Given the description of an element on the screen output the (x, y) to click on. 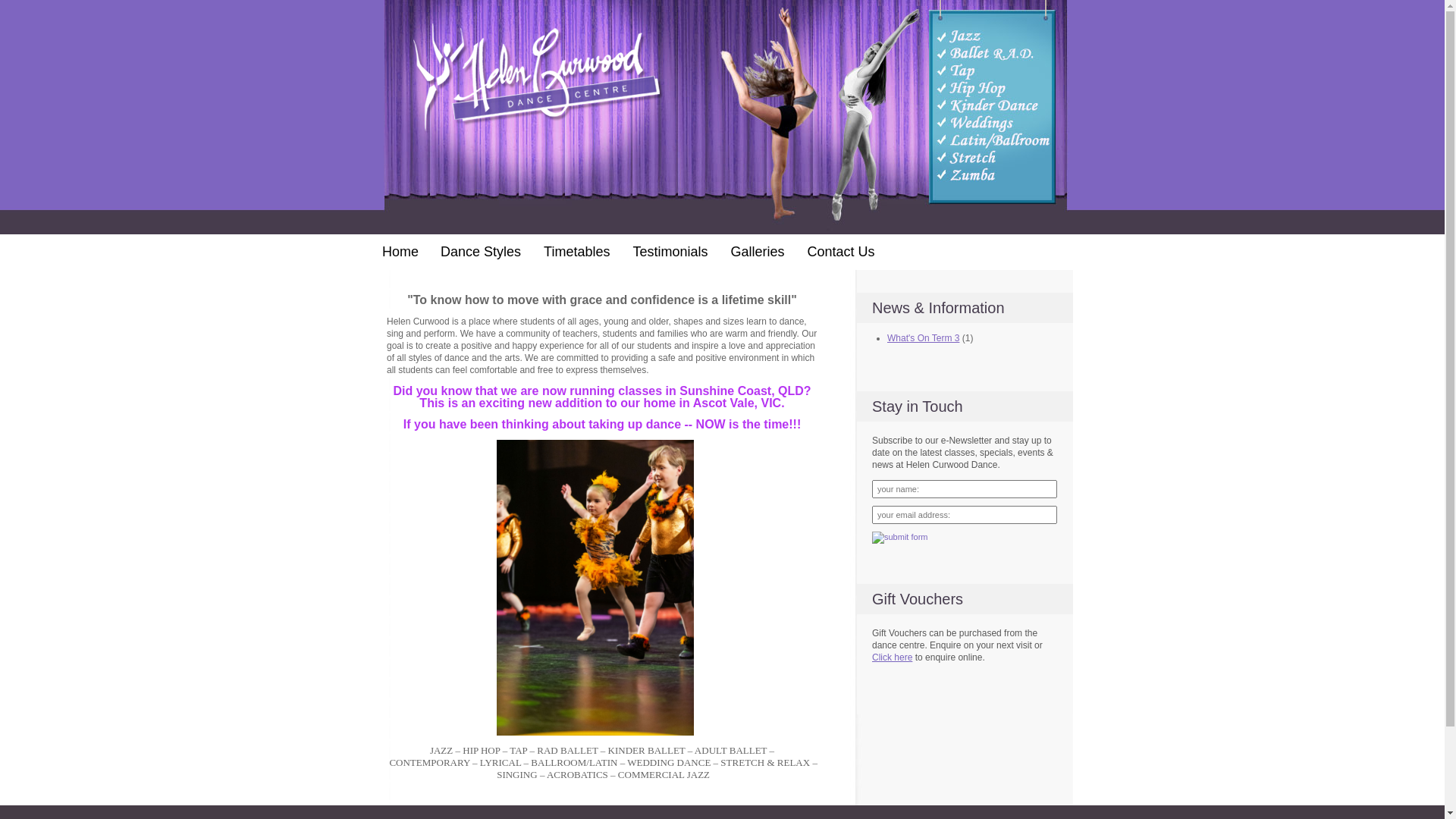
Home Element type: text (400, 251)
Testimonials Element type: text (669, 251)
What's On Term 3 Element type: text (923, 337)
Timetables Element type: text (576, 251)
Helen Curwood Dance Centre Element type: hover (535, 81)
Contact Us Element type: text (841, 251)
Galleries Element type: text (756, 251)
Click here Element type: text (892, 657)
Dance Styles Element type: text (480, 251)
